Given the description of an element on the screen output the (x, y) to click on. 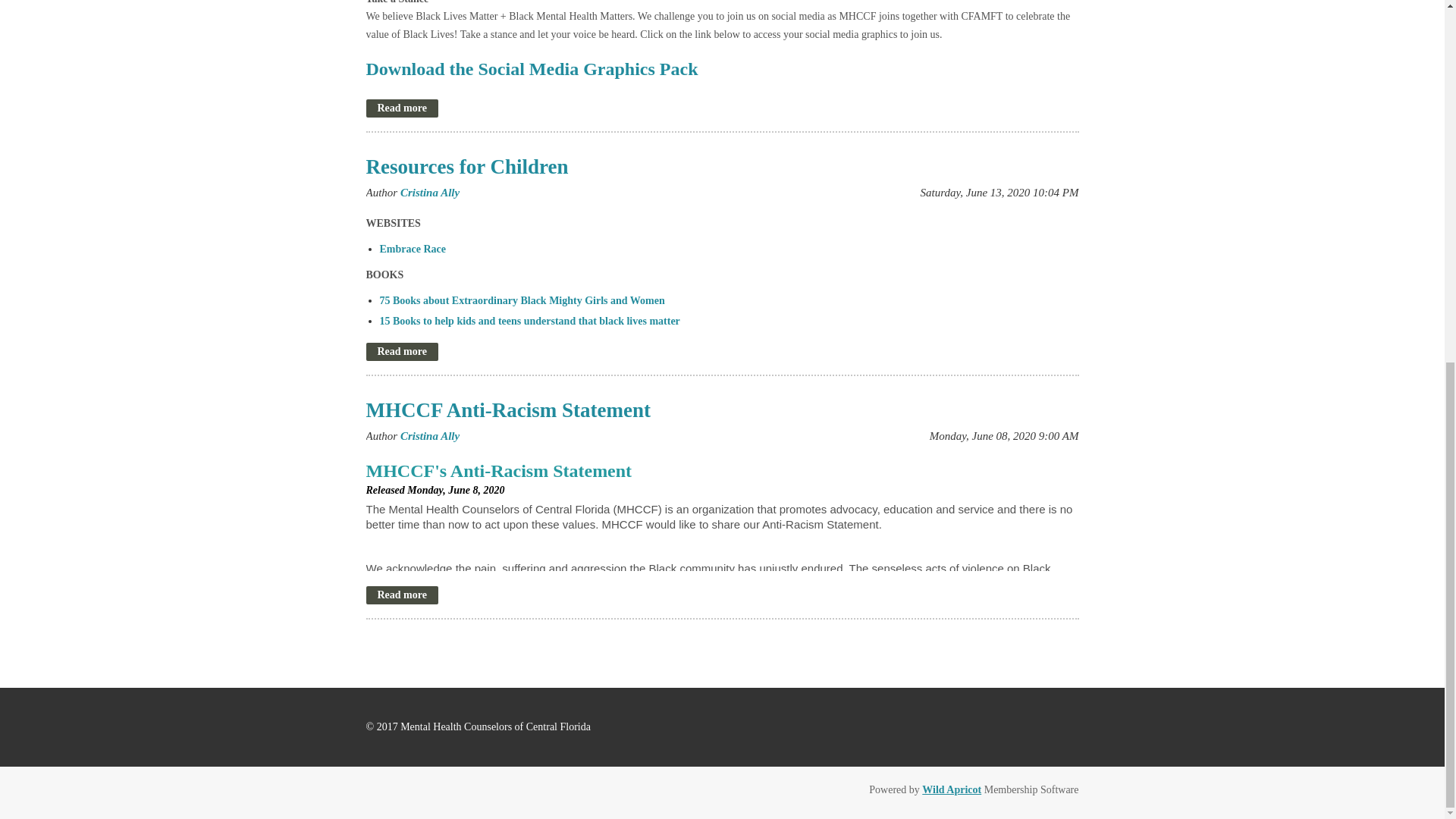
Download the Social Media Graphics Pack (531, 71)
Read more (401, 108)
